Given the description of an element on the screen output the (x, y) to click on. 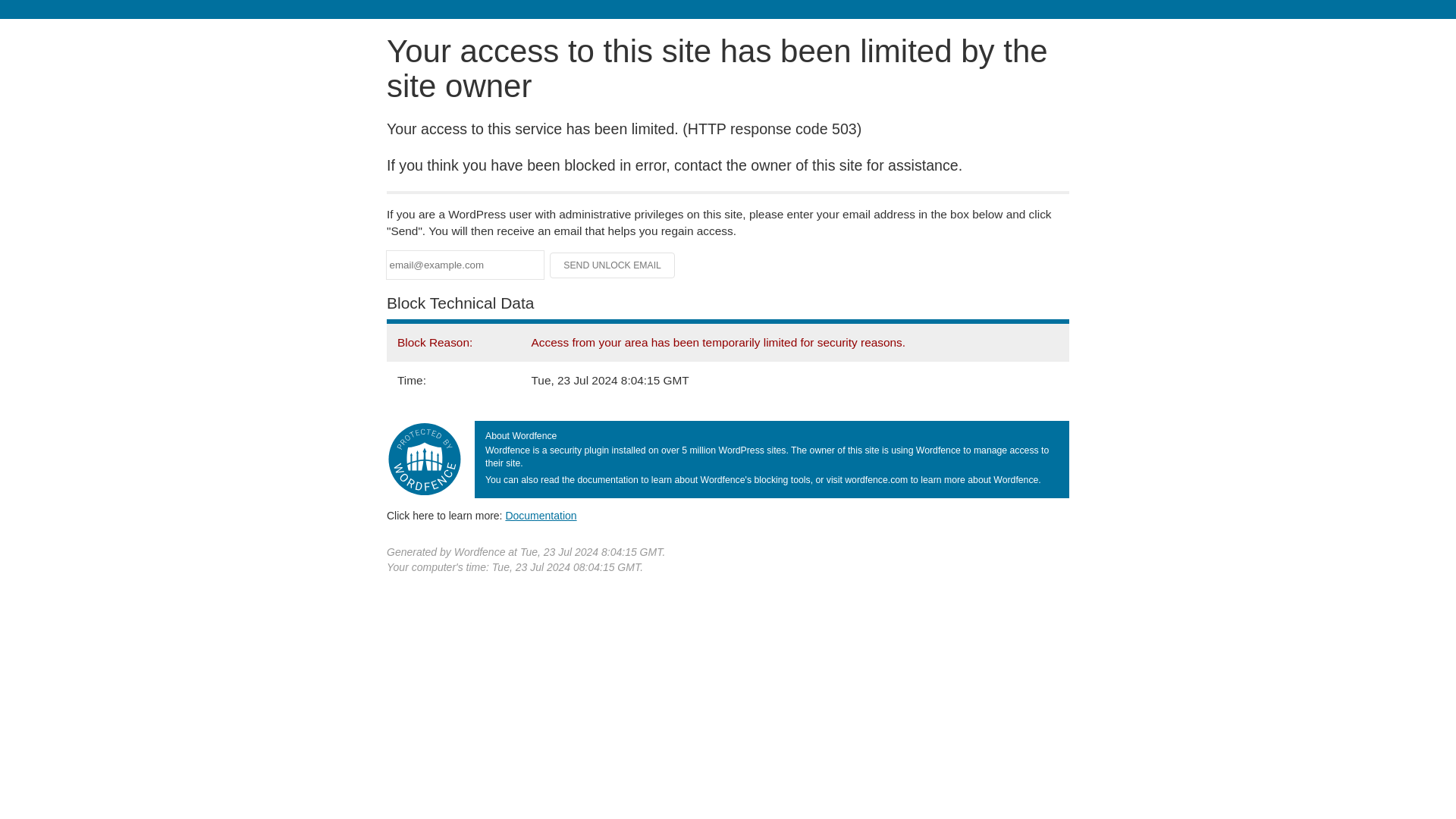
Send Unlock Email (612, 265)
Send Unlock Email (612, 265)
Documentation (540, 515)
